Given the description of an element on the screen output the (x, y) to click on. 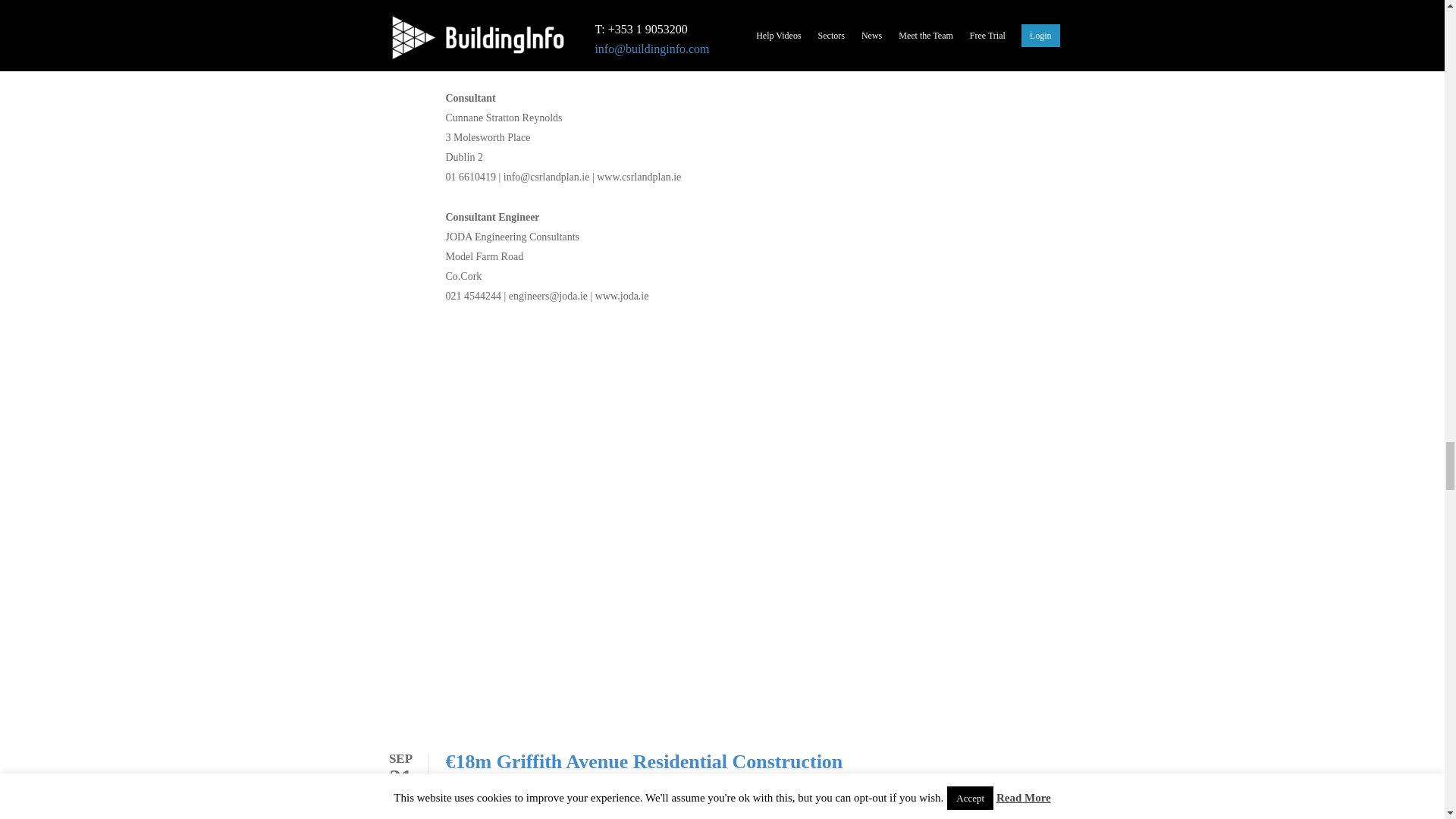
Love this (399, 815)
